Given the description of an element on the screen output the (x, y) to click on. 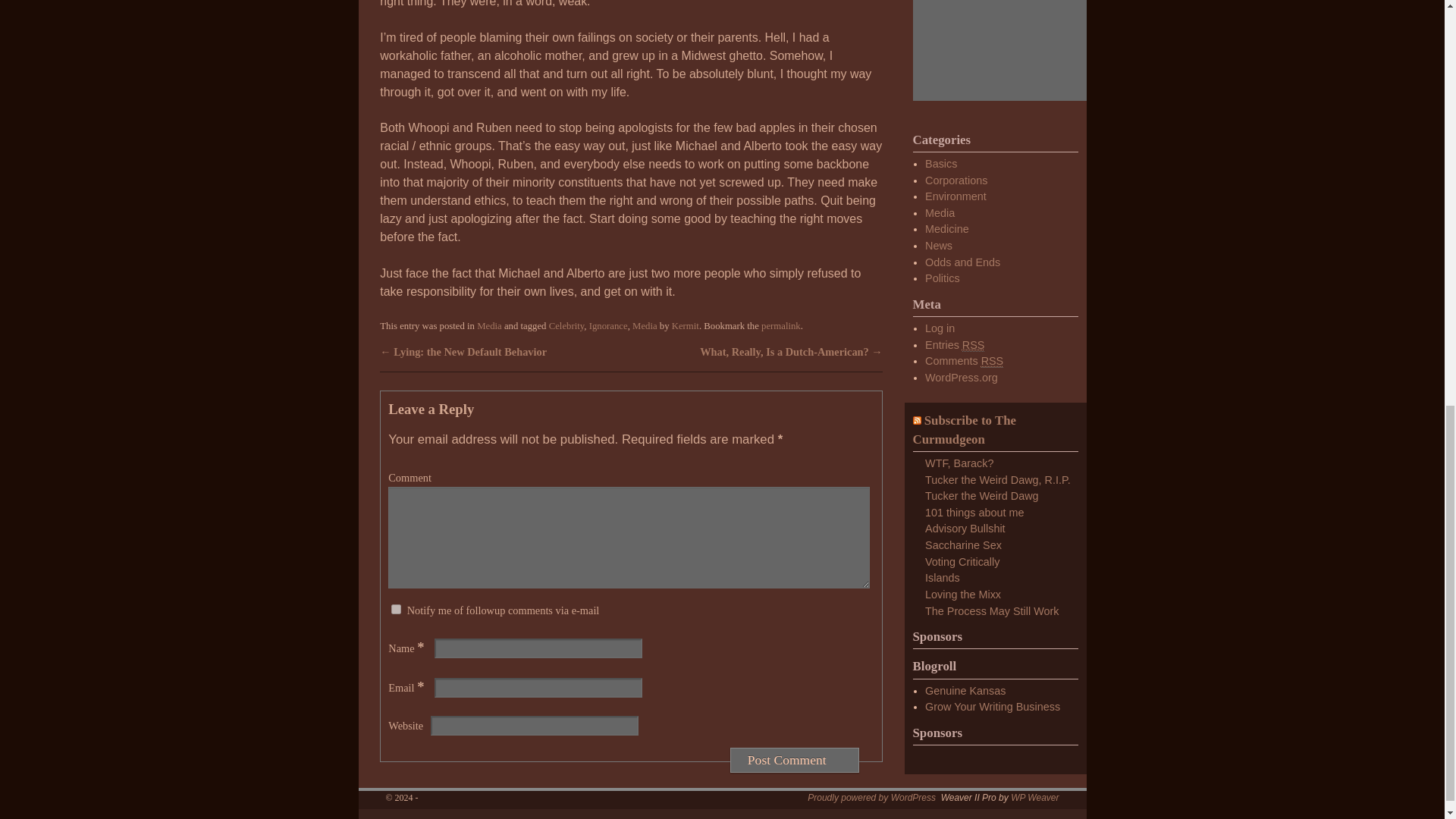
Celebrity (566, 326)
Kermit (684, 326)
subscribe (396, 609)
Permalink to Celebrity Weak People (780, 326)
Ignorance (608, 326)
Media (489, 326)
Really Simple Syndication (973, 345)
permalink (780, 326)
Media (644, 326)
Post Comment (794, 760)
Post Comment (794, 760)
Advertisement (1007, 50)
Really Simple Syndication (992, 360)
